Given the description of an element on the screen output the (x, y) to click on. 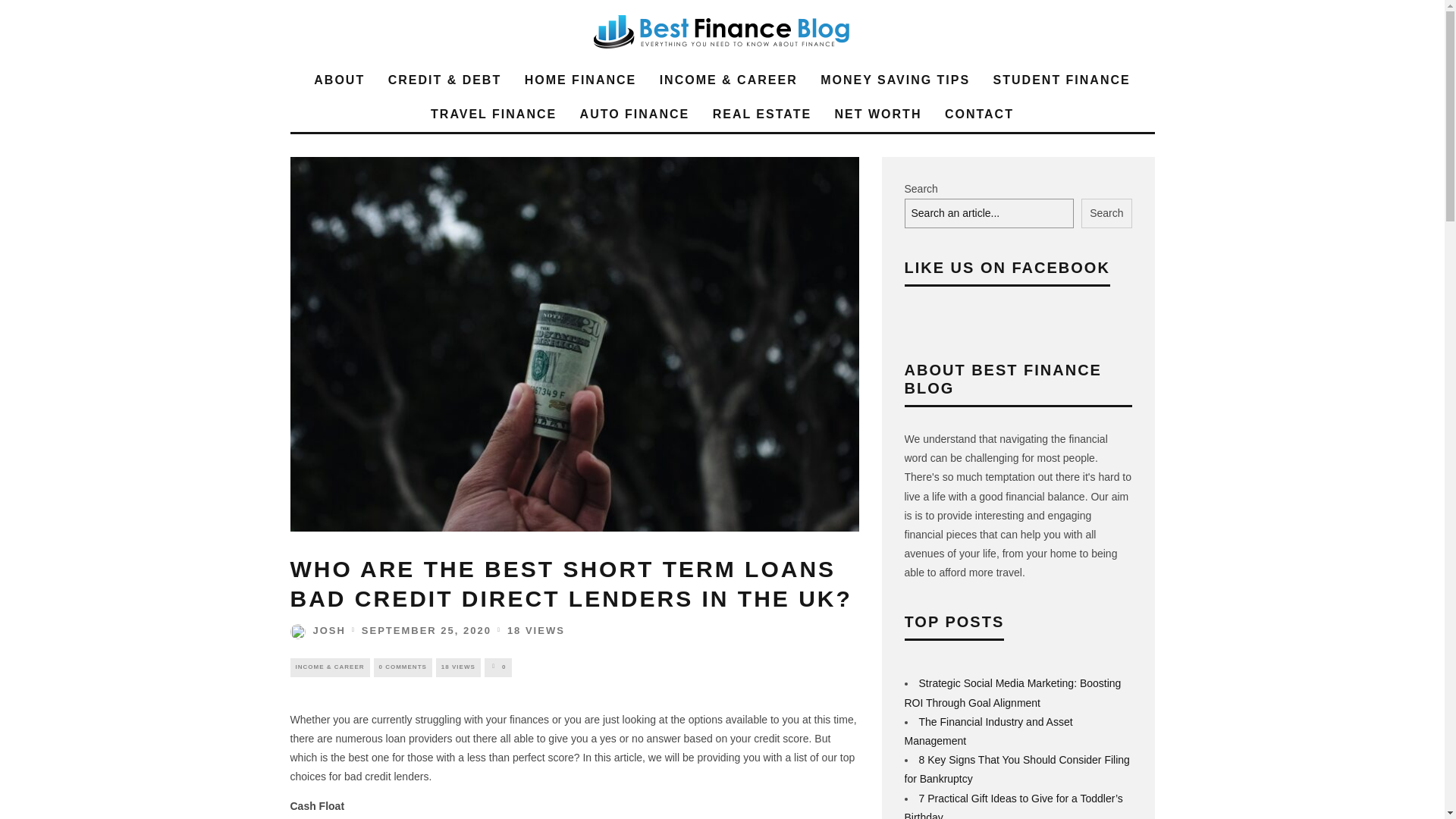
NET WORTH (878, 114)
CONTACT (979, 114)
HOME FINANCE (580, 80)
0 COMMENTS (403, 667)
STUDENT FINANCE (1062, 80)
MONEY SAVING TIPS (894, 80)
JOSH (317, 630)
AUTO FINANCE (634, 114)
REAL ESTATE (762, 114)
ABOUT (339, 80)
